Given the description of an element on the screen output the (x, y) to click on. 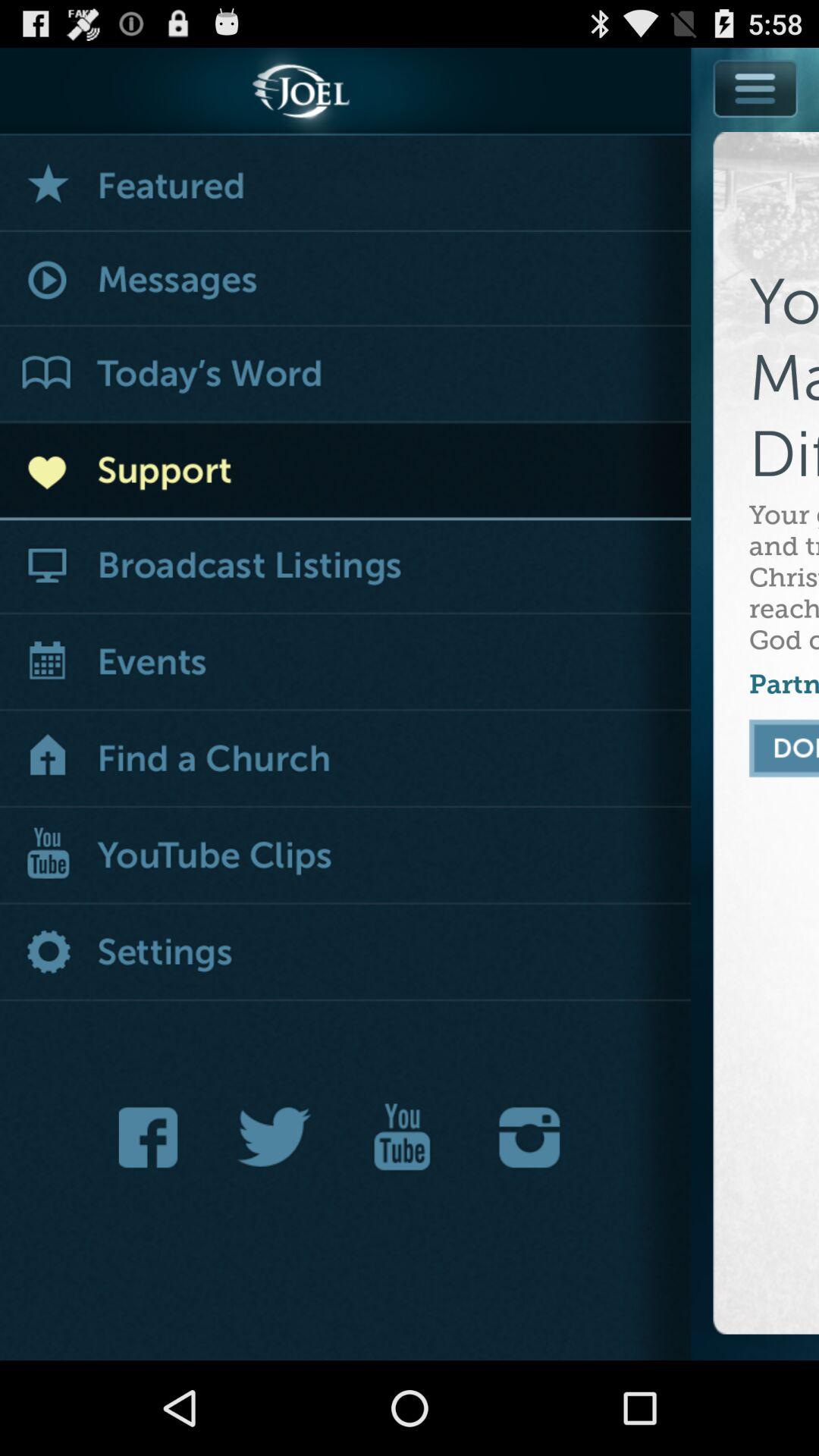
view daily devotional (345, 375)
